Given the description of an element on the screen output the (x, y) to click on. 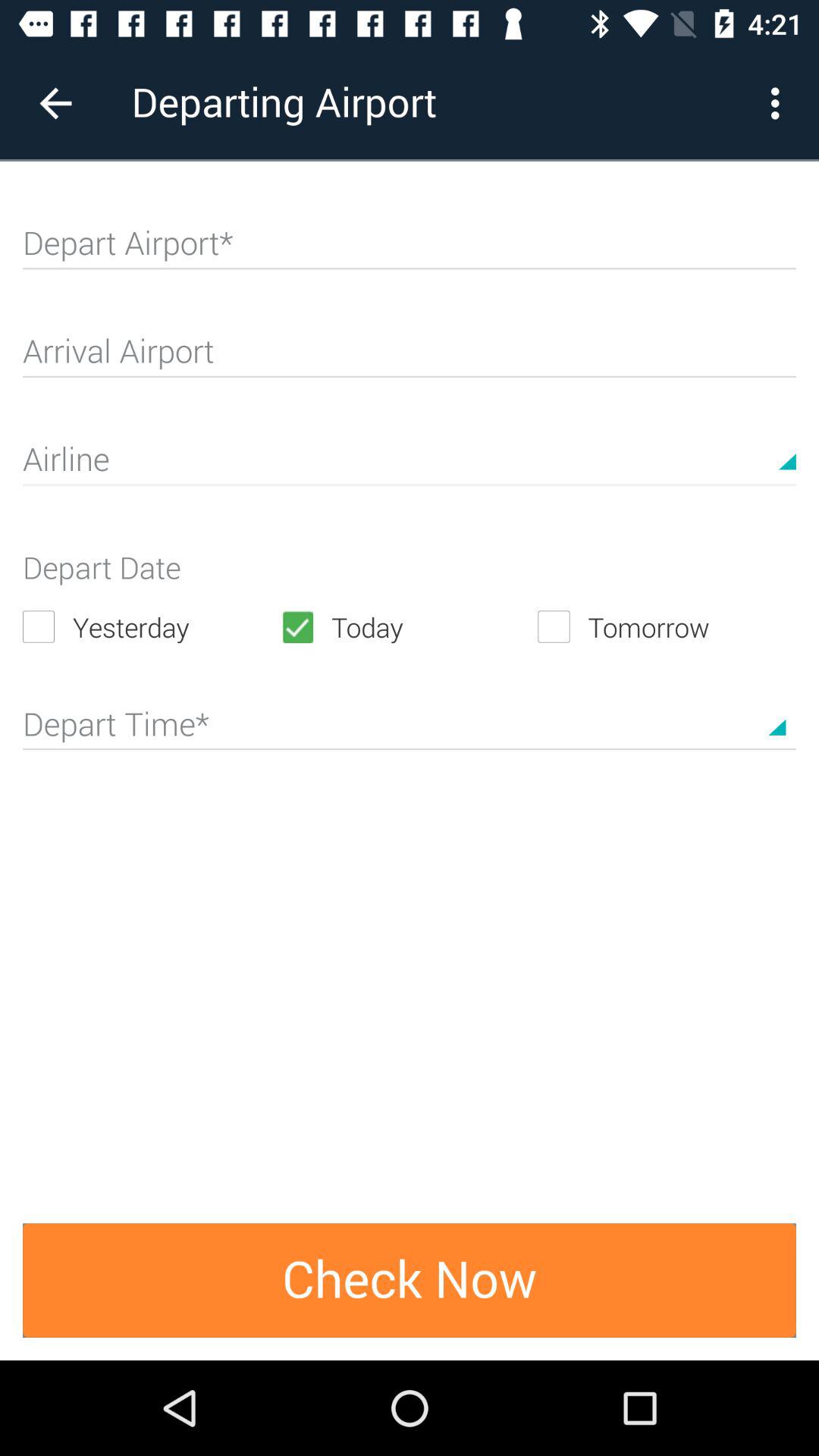
enter the arrival airport (409, 357)
